Given the description of an element on the screen output the (x, y) to click on. 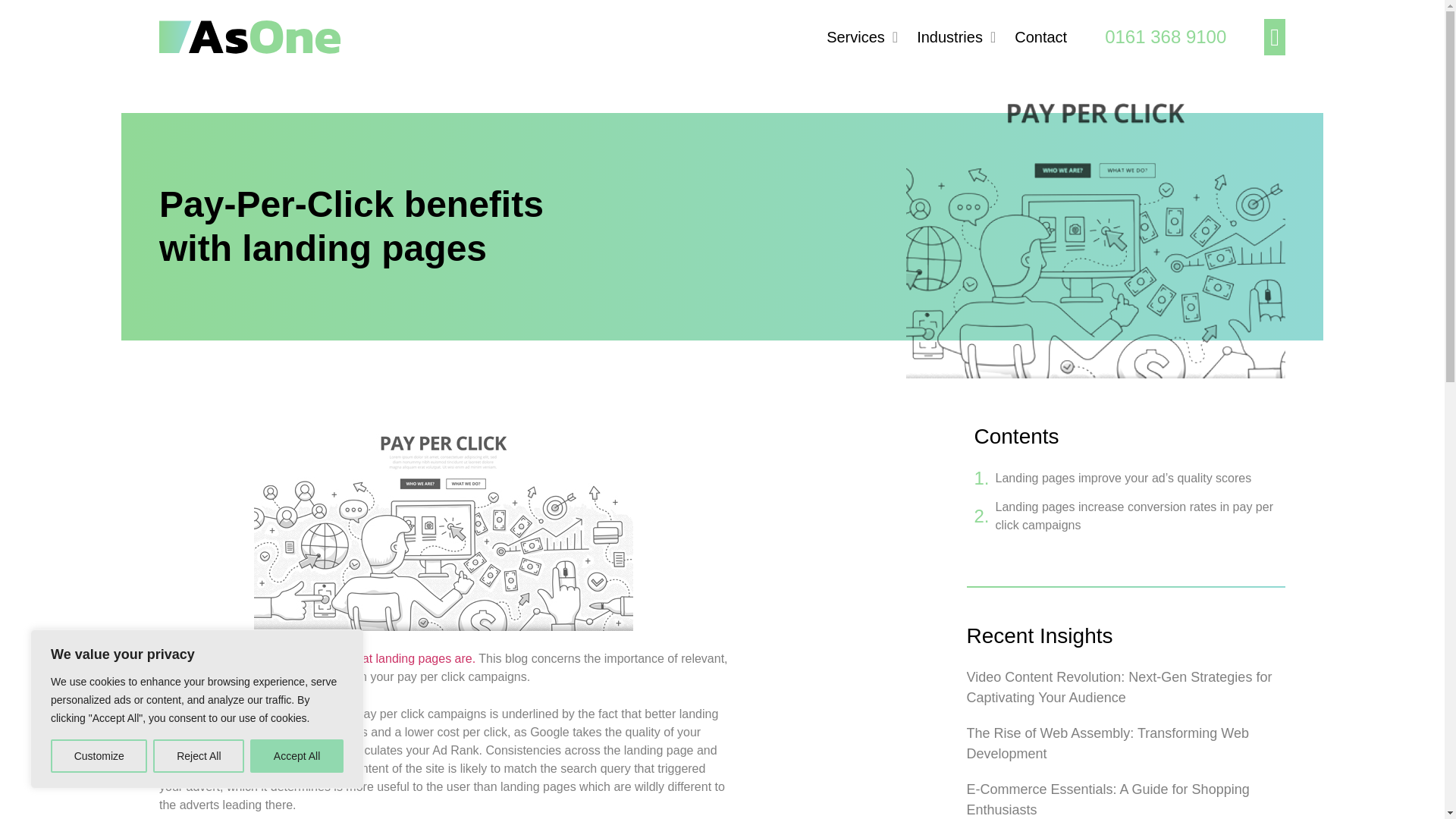
Services (862, 26)
Industries (956, 26)
Customize (98, 756)
Accept All (296, 756)
Reject All (198, 756)
